Given the description of an element on the screen output the (x, y) to click on. 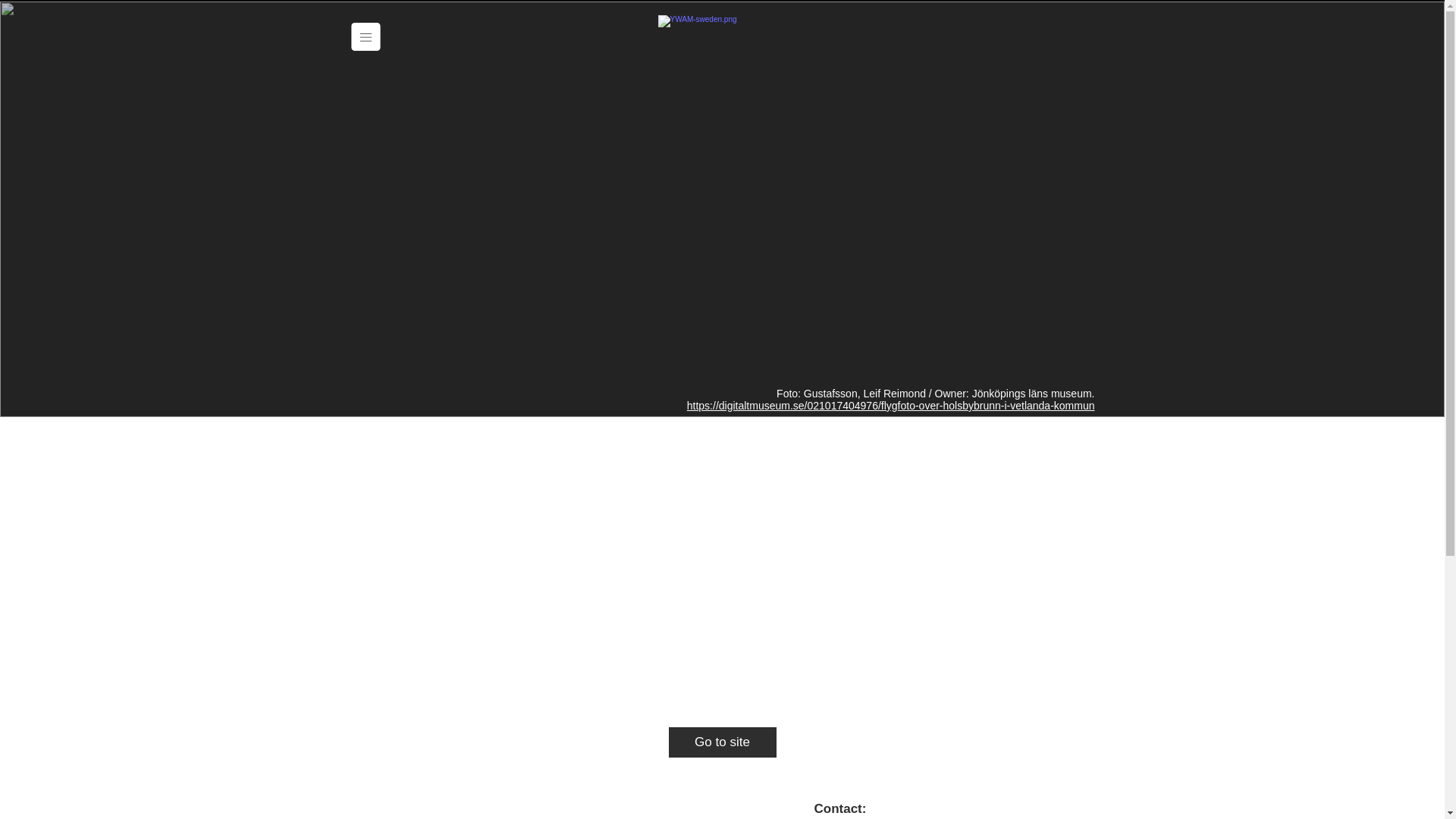
Go to site (722, 742)
